Given the description of an element on the screen output the (x, y) to click on. 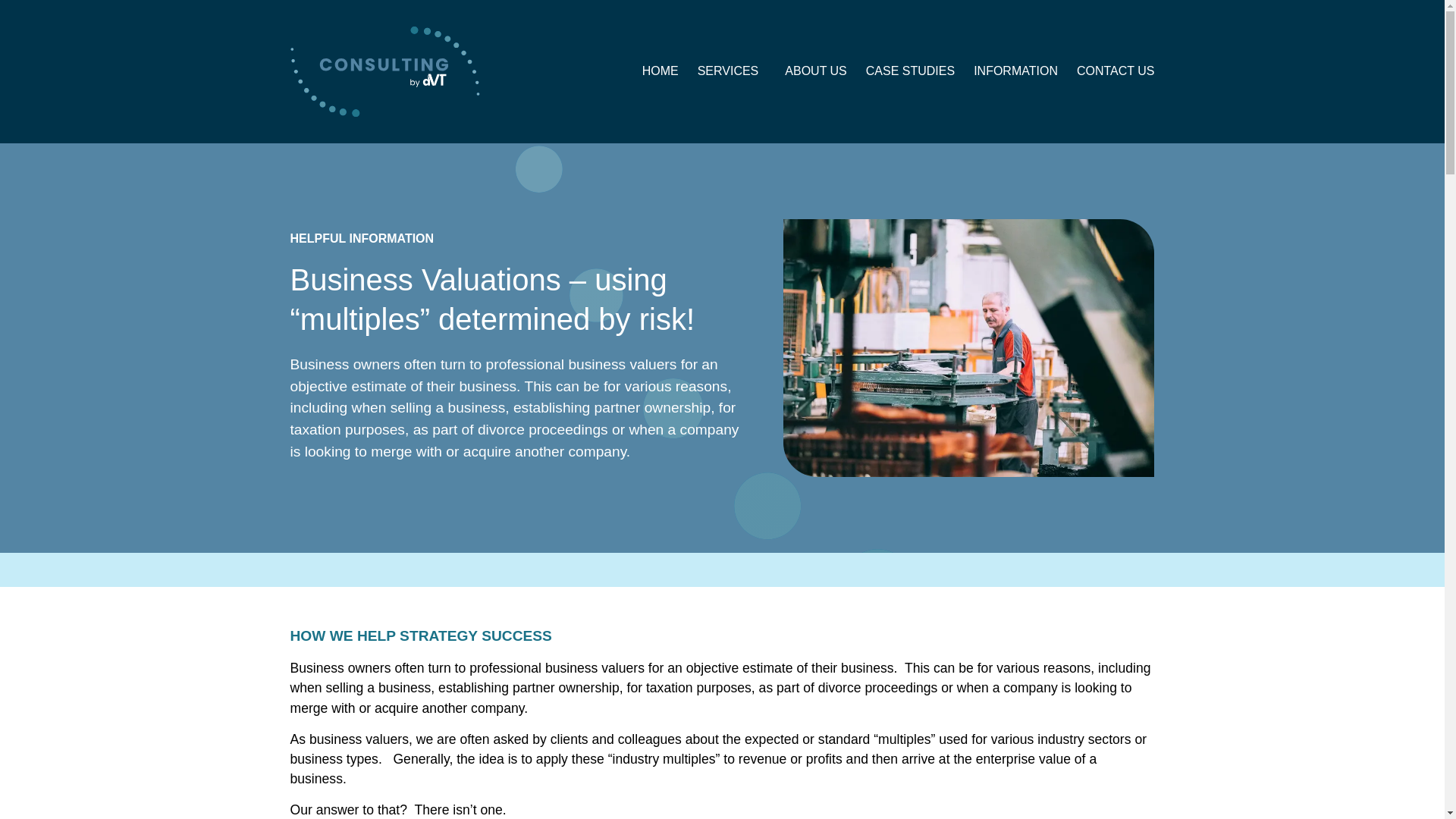
CASE STUDIES (910, 71)
HELPFUL INFORMATION (361, 237)
SERVICES (732, 71)
INFORMATION (1016, 71)
HOME (660, 71)
CONTACT US (1115, 71)
ABOUT US (815, 71)
